Given the description of an element on the screen output the (x, y) to click on. 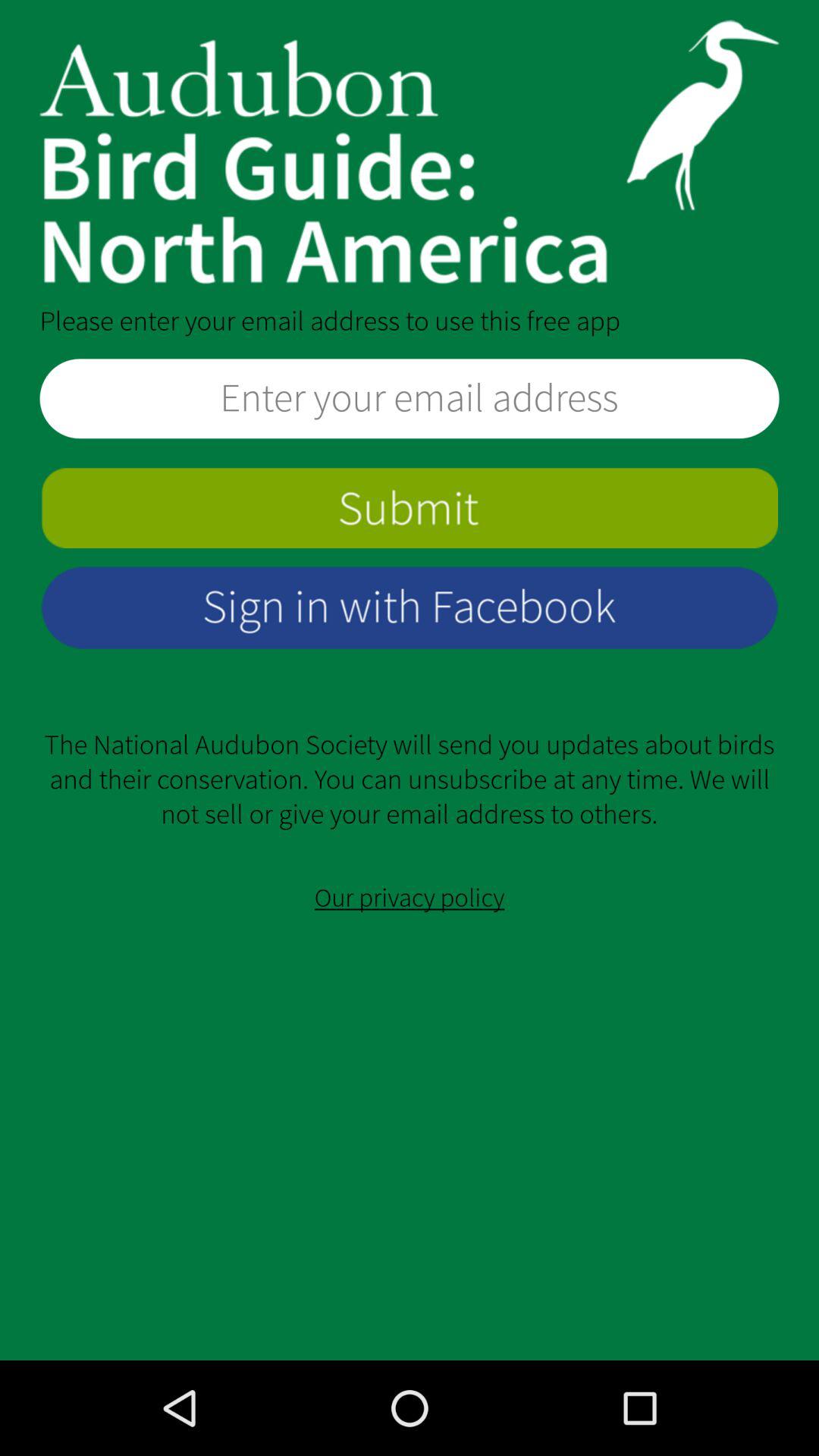
jump to the our privacy policy item (409, 897)
